Given the description of an element on the screen output the (x, y) to click on. 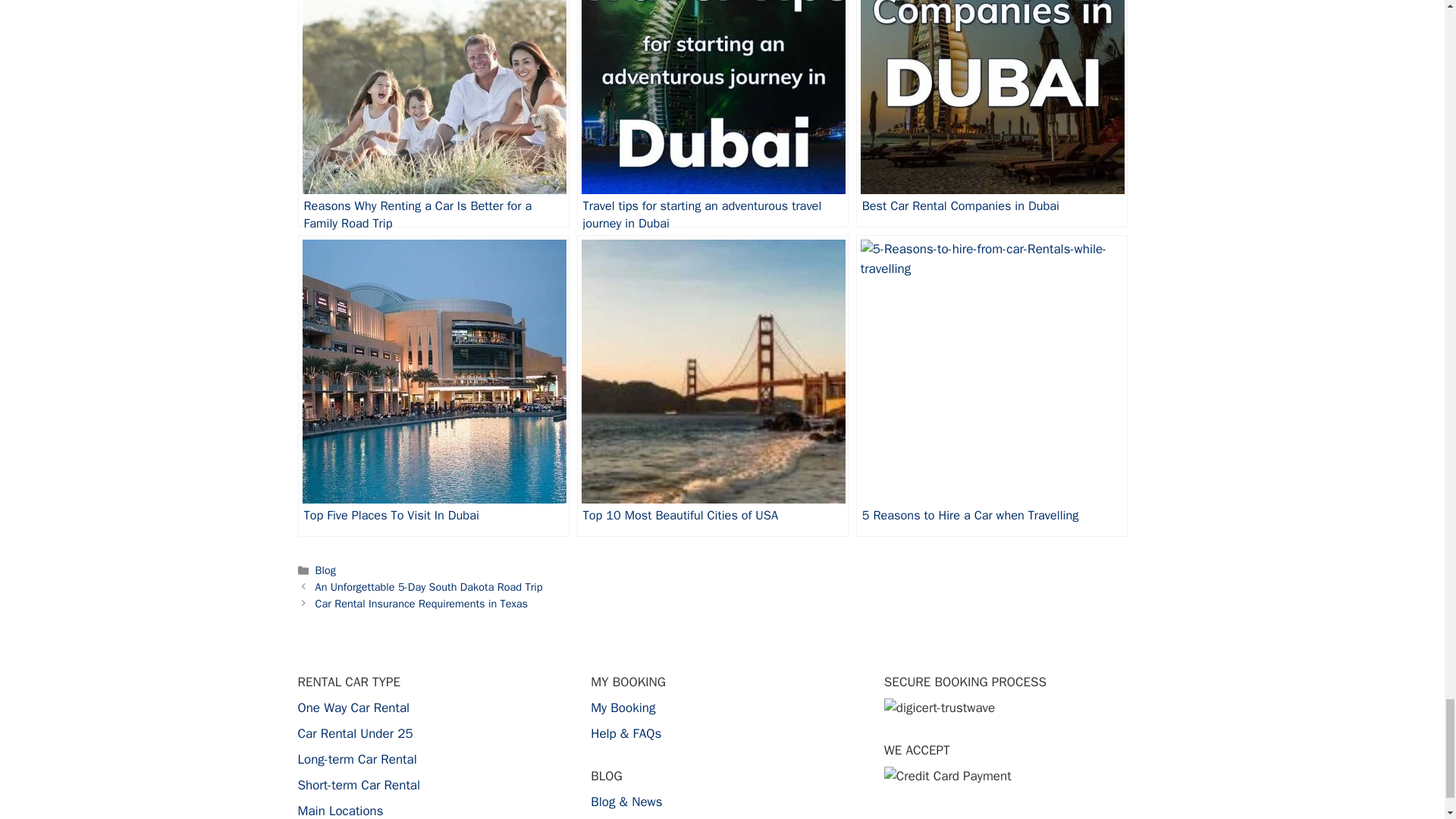
Top Five Places To Visit In Dubai (433, 386)
Long-term Car Rental (356, 759)
Top Five Places To Visit In Dubai (433, 386)
Car Rental Under 25 (354, 733)
Top 10 Most Beautiful Cities of USA (712, 386)
Blog (325, 570)
Top 10 Most Beautiful Cities of USA (712, 386)
An Unforgettable 5-Day South Dakota Road Trip (429, 586)
Reasons Why Renting a Car Is Better for a Family Road Trip (433, 113)
Main Locations (339, 811)
Best Car Rental Companies in Dubai (991, 113)
5 Reasons to Hire a Car when Travelling (991, 386)
Car Rental Insurance Requirements in Texas (421, 602)
